Given the description of an element on the screen output the (x, y) to click on. 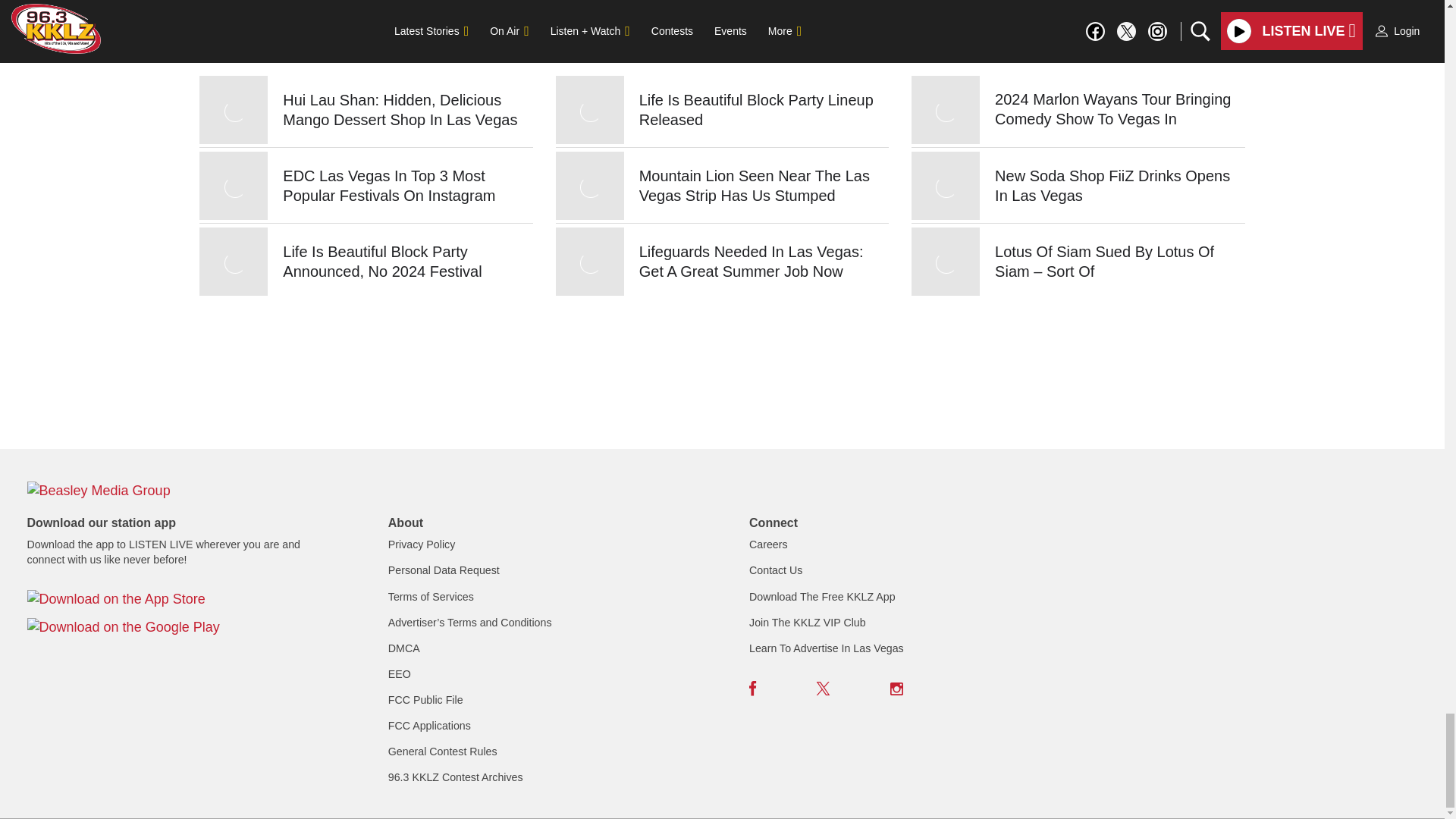
Instagram (895, 688)
Twitter (823, 688)
